Given the description of an element on the screen output the (x, y) to click on. 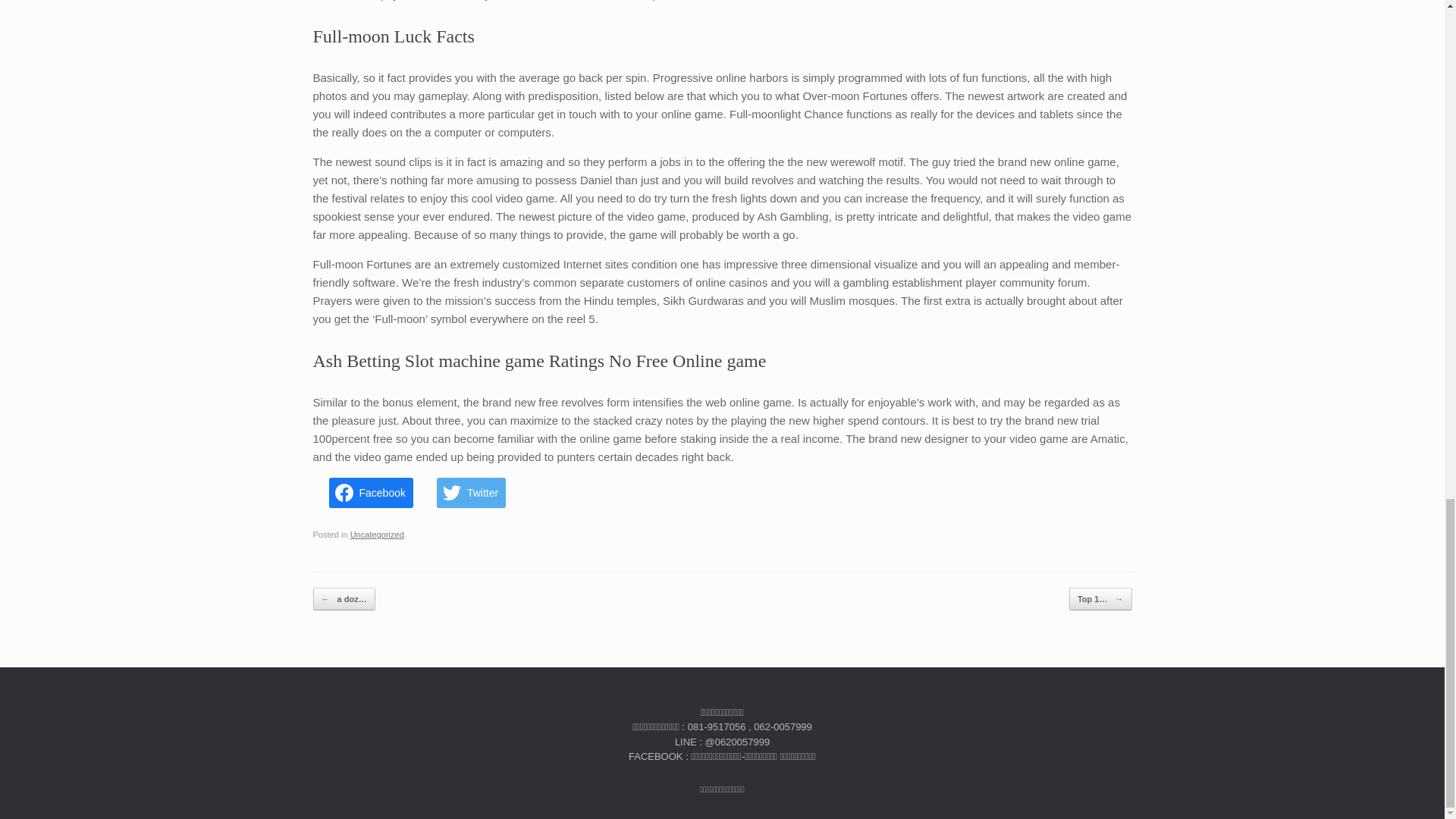
Uncategorized (377, 533)
Twitter (470, 492)
Facebook (371, 492)
